Given the description of an element on the screen output the (x, y) to click on. 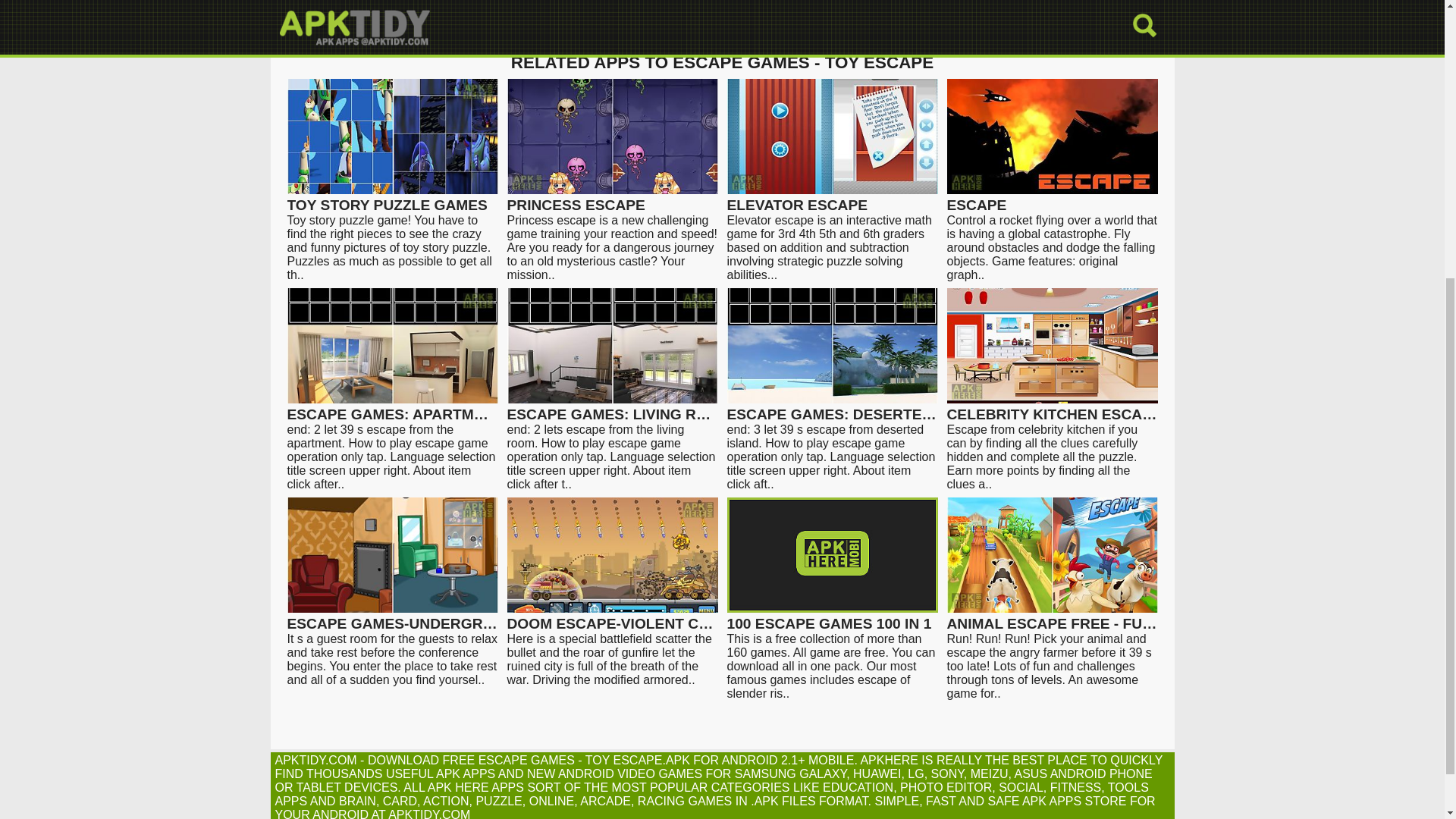
TOY STORY PUZZLE GAMES (391, 198)
ESCAPE GAMES: LIVING ROOM (611, 408)
ANIMAL ESCAPE FREE - FUN GAMES (1051, 616)
ELEVATOR ESCAPE (831, 198)
PRINCESS ESCAPE (611, 198)
ESCAPE GAMES-UNDERGROUND ROOM (391, 616)
ESCAPE GAMES: DESERTED ISLAND (831, 408)
ESCAPE (1051, 198)
100 ESCAPE GAMES 100 IN 1 (831, 616)
ESCAPE GAMES: APARTMENT (391, 408)
